Given the description of an element on the screen output the (x, y) to click on. 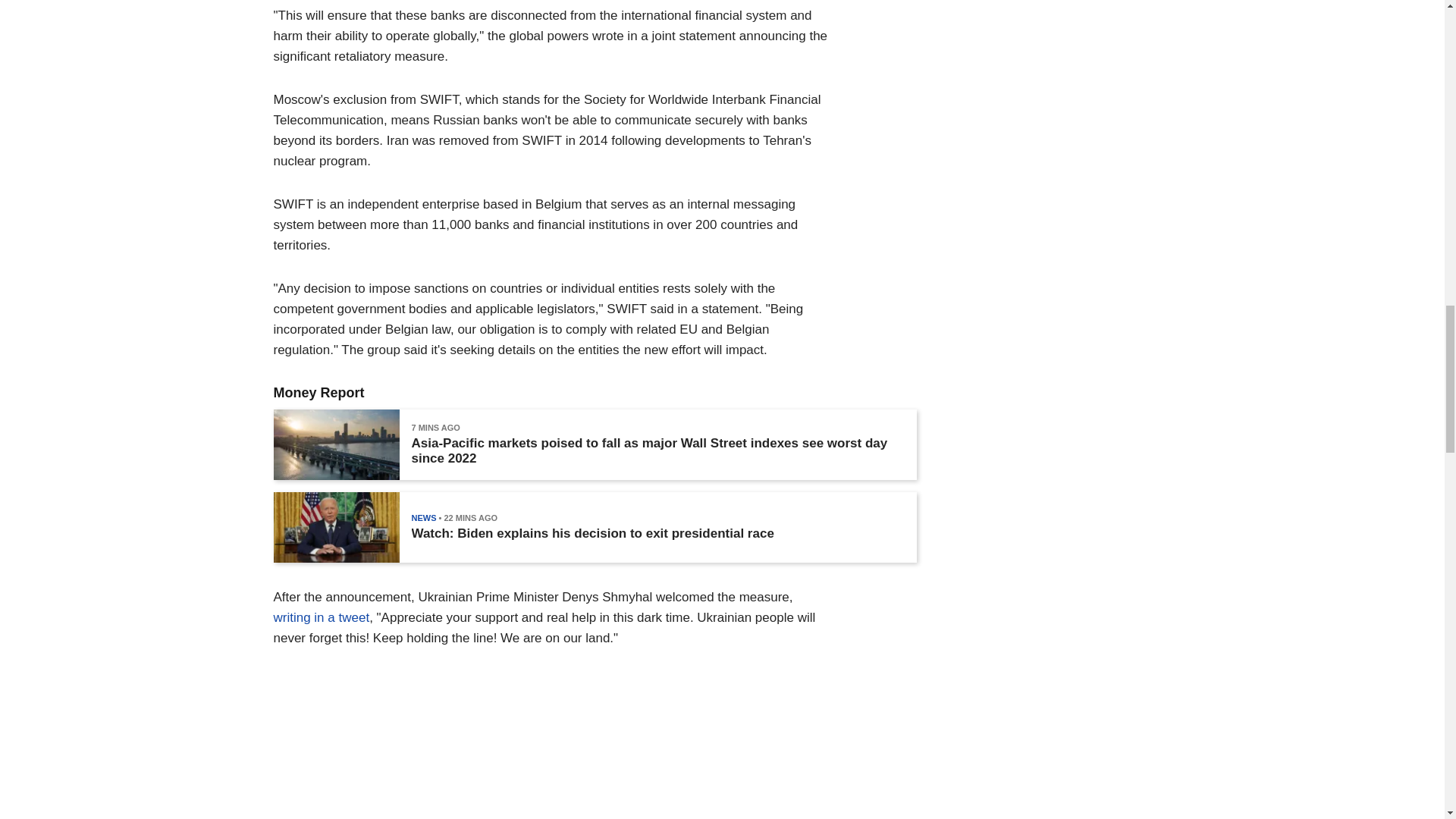
NEWS (422, 517)
writing in a tweet (321, 617)
Watch: Biden explains his decision to exit presidential race (591, 533)
